Given the description of an element on the screen output the (x, y) to click on. 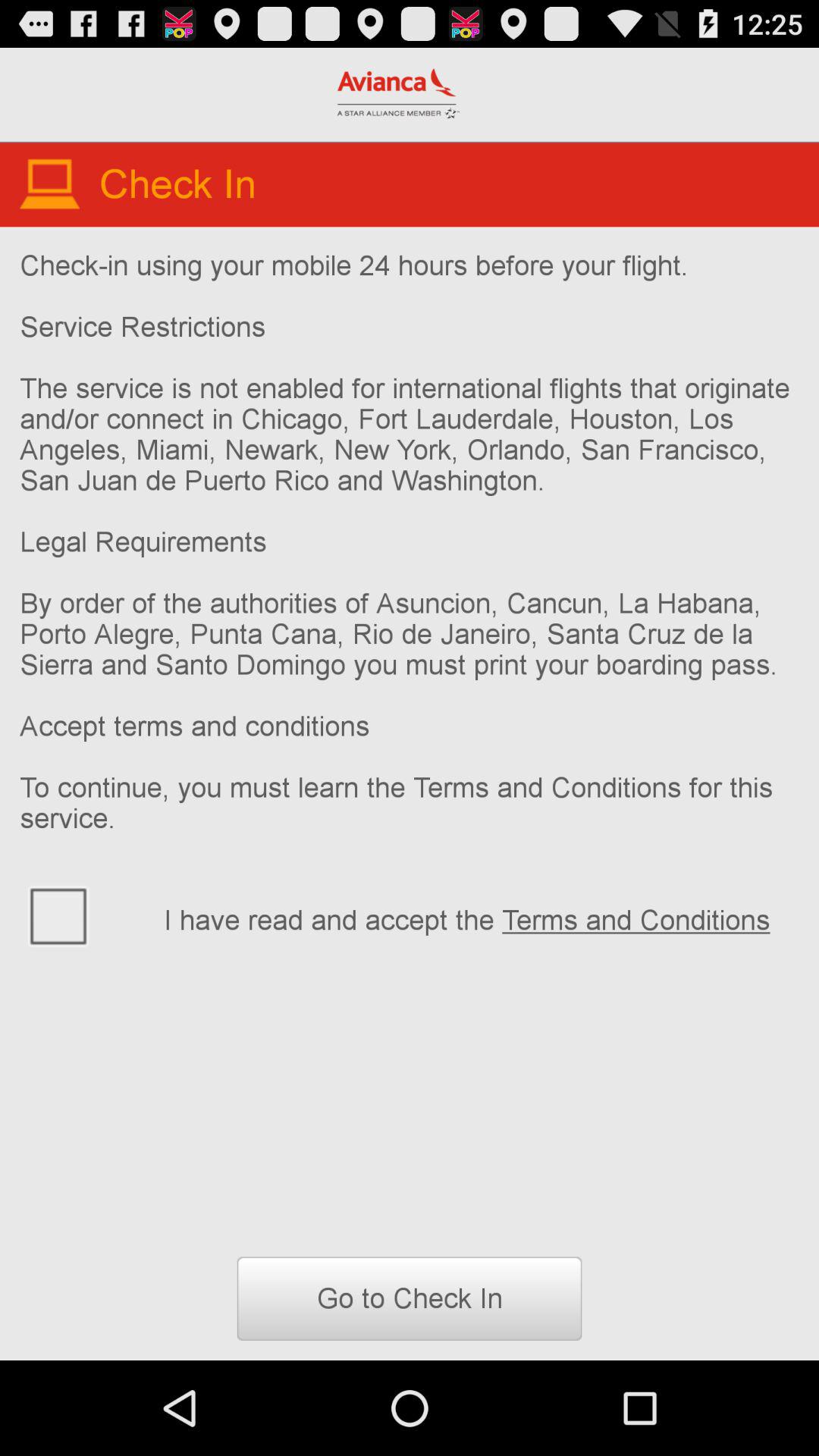
swipe until i have read (481, 917)
